Given the description of an element on the screen output the (x, y) to click on. 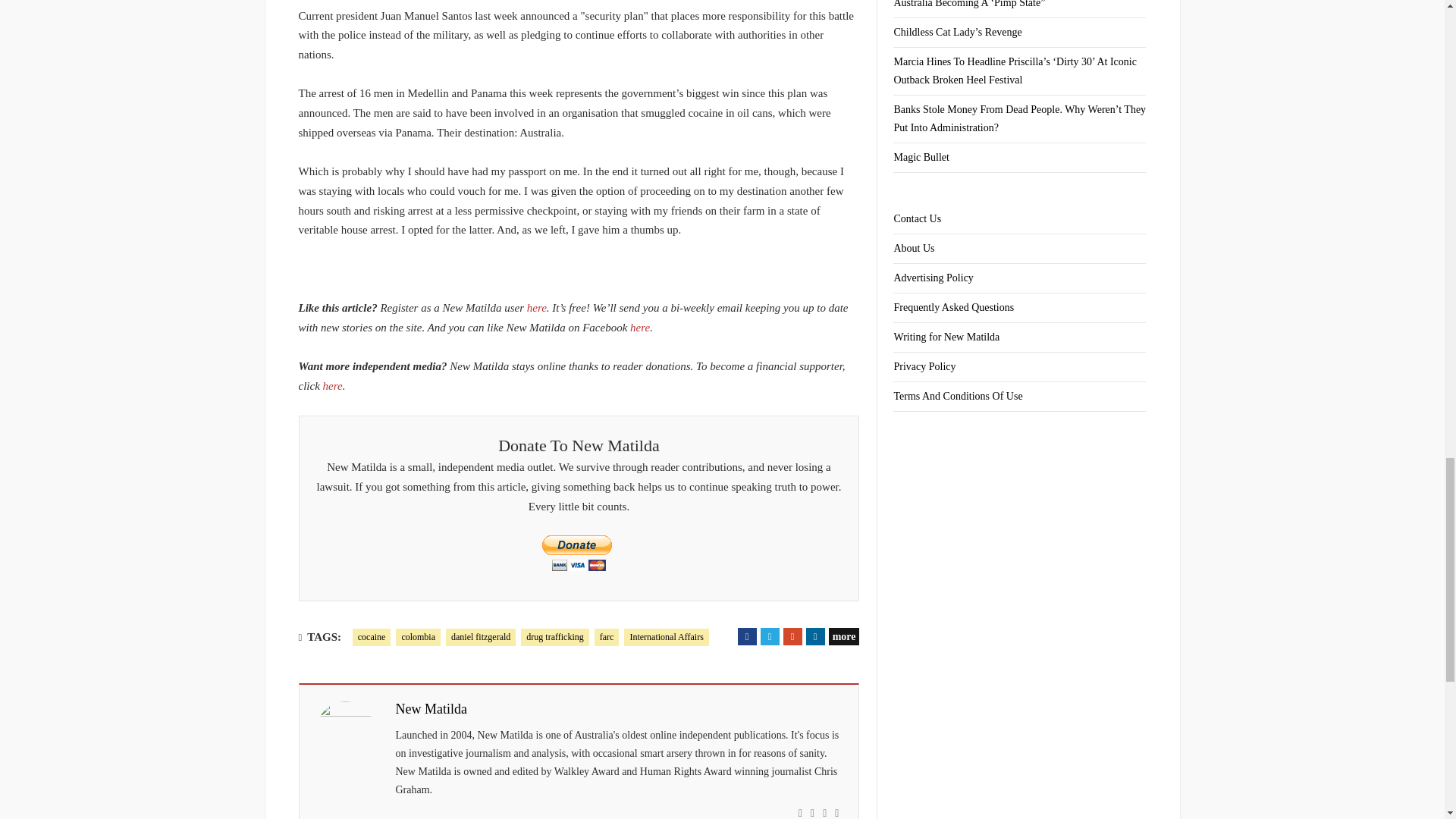
LinkedIn (815, 636)
here (639, 327)
here (537, 307)
here (332, 386)
Posts by New Matilda (431, 709)
Twitter (769, 636)
drug trafficking (554, 637)
Share on Facebook (747, 636)
colombia (418, 637)
Tweet It (769, 636)
